Given the description of an element on the screen output the (x, y) to click on. 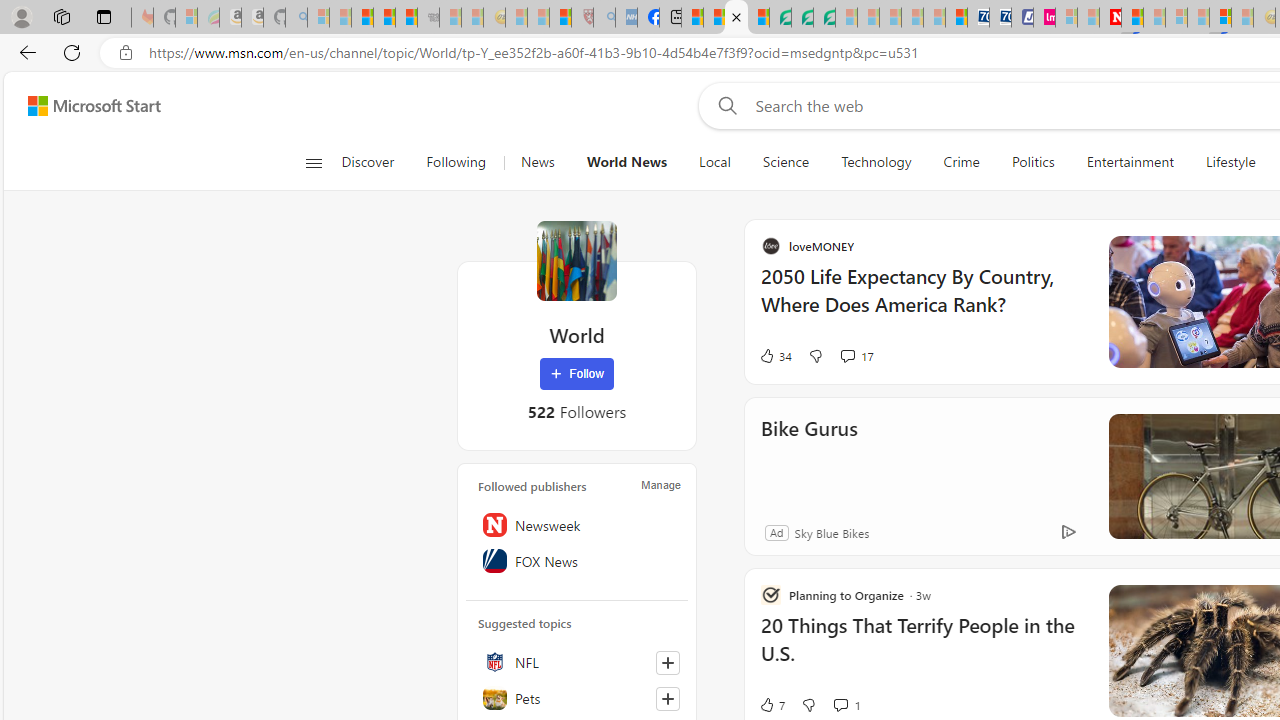
34 Like (968, 355)
